Given the description of an element on the screen output the (x, y) to click on. 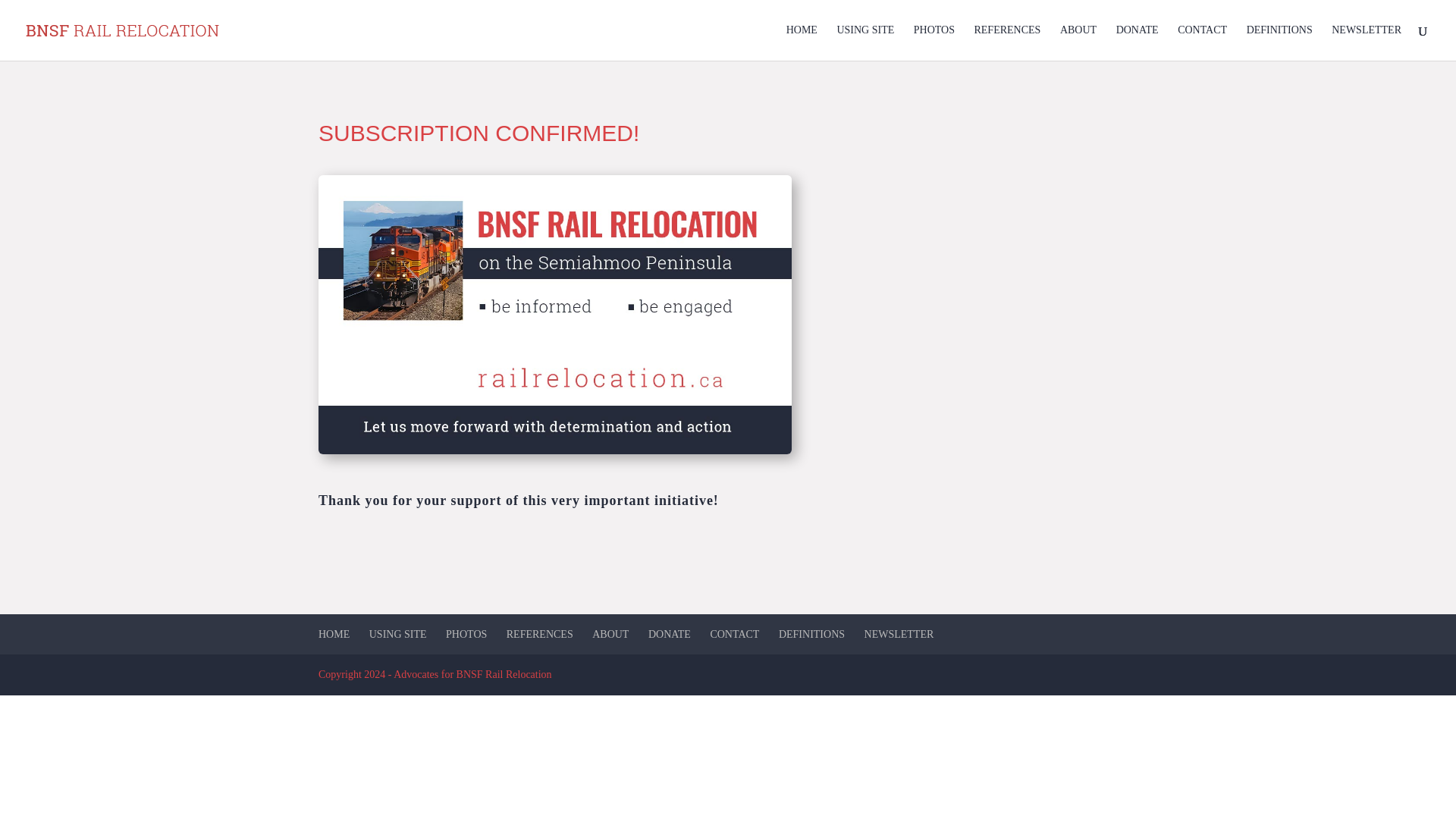
CONTACT (734, 633)
PHOTOS (934, 42)
REFERENCES (1007, 42)
HOME (333, 633)
ABOUT (610, 633)
DEFINITIONS (811, 633)
DONATE (668, 633)
NEWSLETTER (1366, 42)
DONATE (1137, 42)
CONTACT (1202, 42)
